Given the description of an element on the screen output the (x, y) to click on. 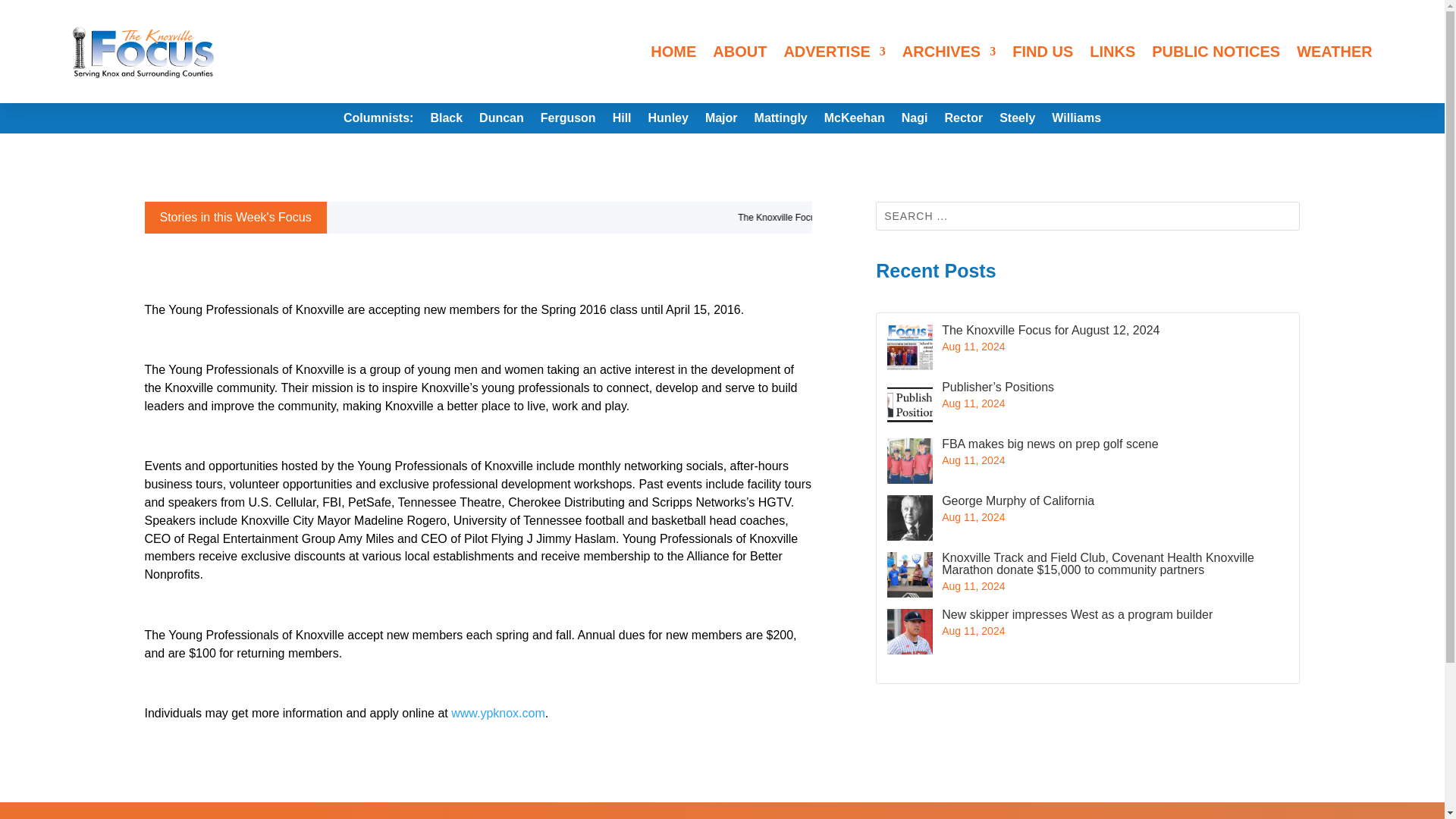
ABOUT (740, 51)
ARCHIVES (948, 51)
PUBLIC NOTICES (1215, 51)
WEATHER (1335, 51)
ADVERTISE (834, 51)
FIND US (1042, 51)
